Given the description of an element on the screen output the (x, y) to click on. 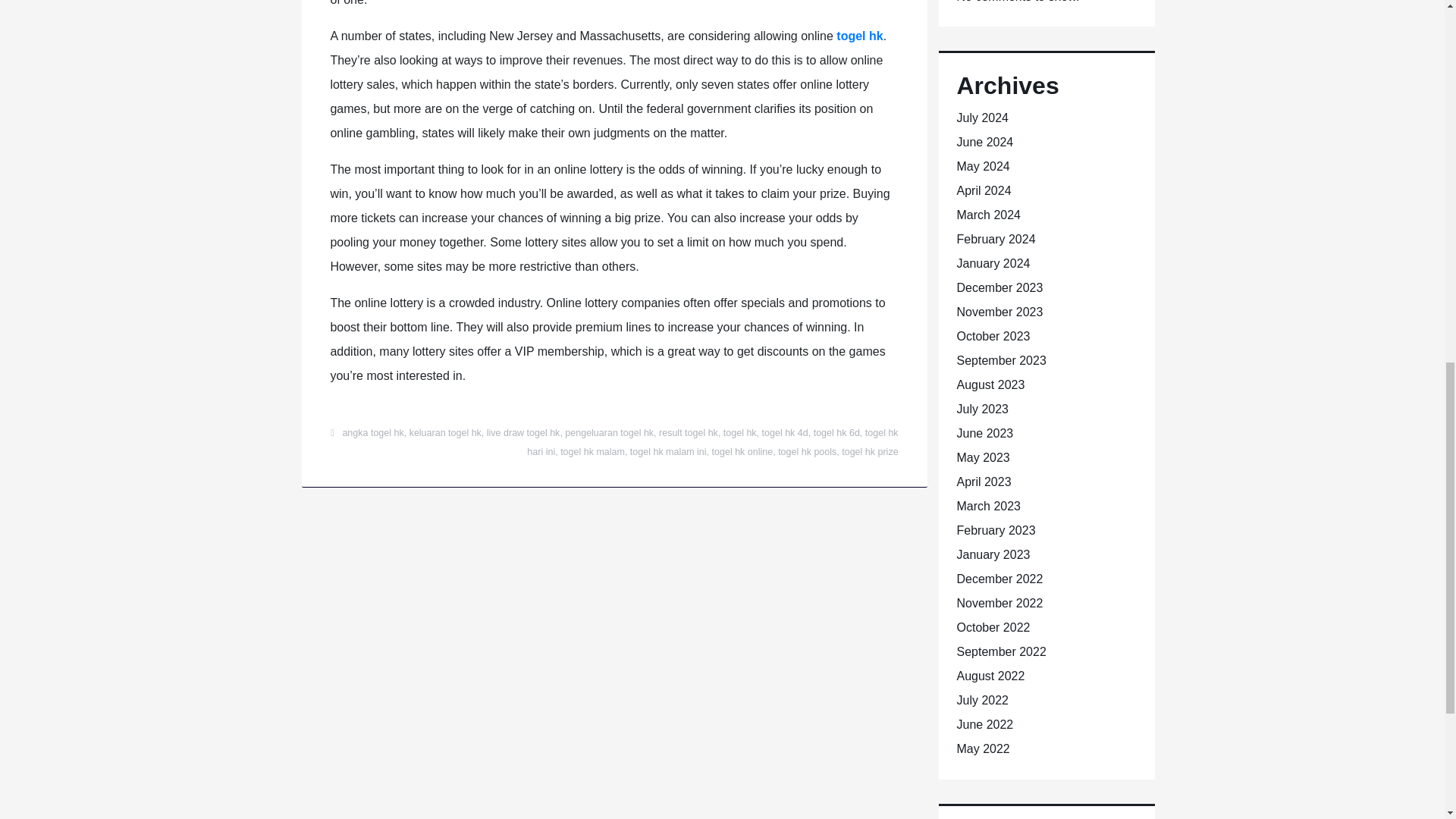
November 2023 (999, 311)
togel hk (740, 432)
result togel hk (688, 432)
April 2024 (983, 190)
August 2023 (990, 384)
December 2023 (999, 287)
September 2023 (1001, 359)
January 2024 (993, 263)
March 2024 (989, 214)
pengeluaran togel hk (608, 432)
togel hk 4d (784, 432)
togel hk 6d (836, 432)
togel hk online (742, 451)
angka togel hk (372, 432)
July 2024 (982, 117)
